Given the description of an element on the screen output the (x, y) to click on. 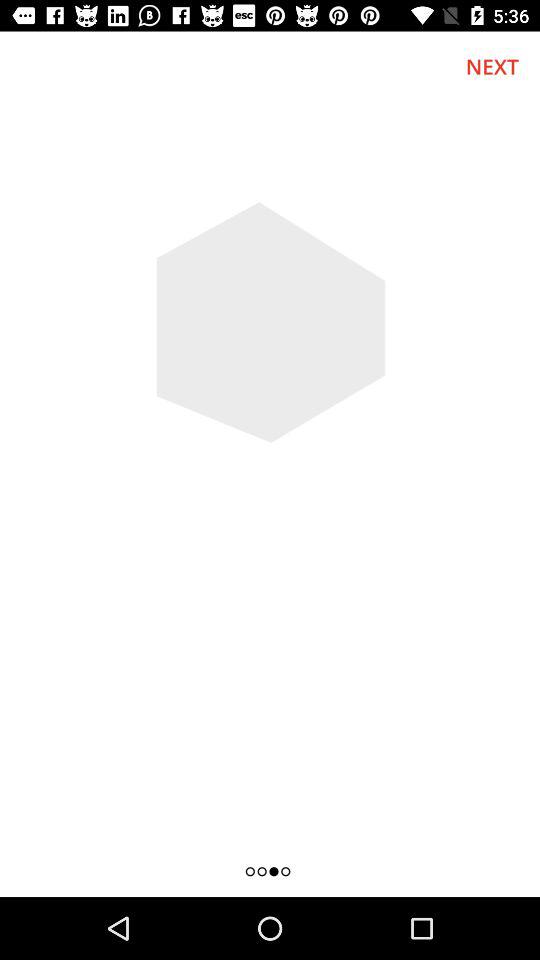
flip to next item (492, 66)
